Given the description of an element on the screen output the (x, y) to click on. 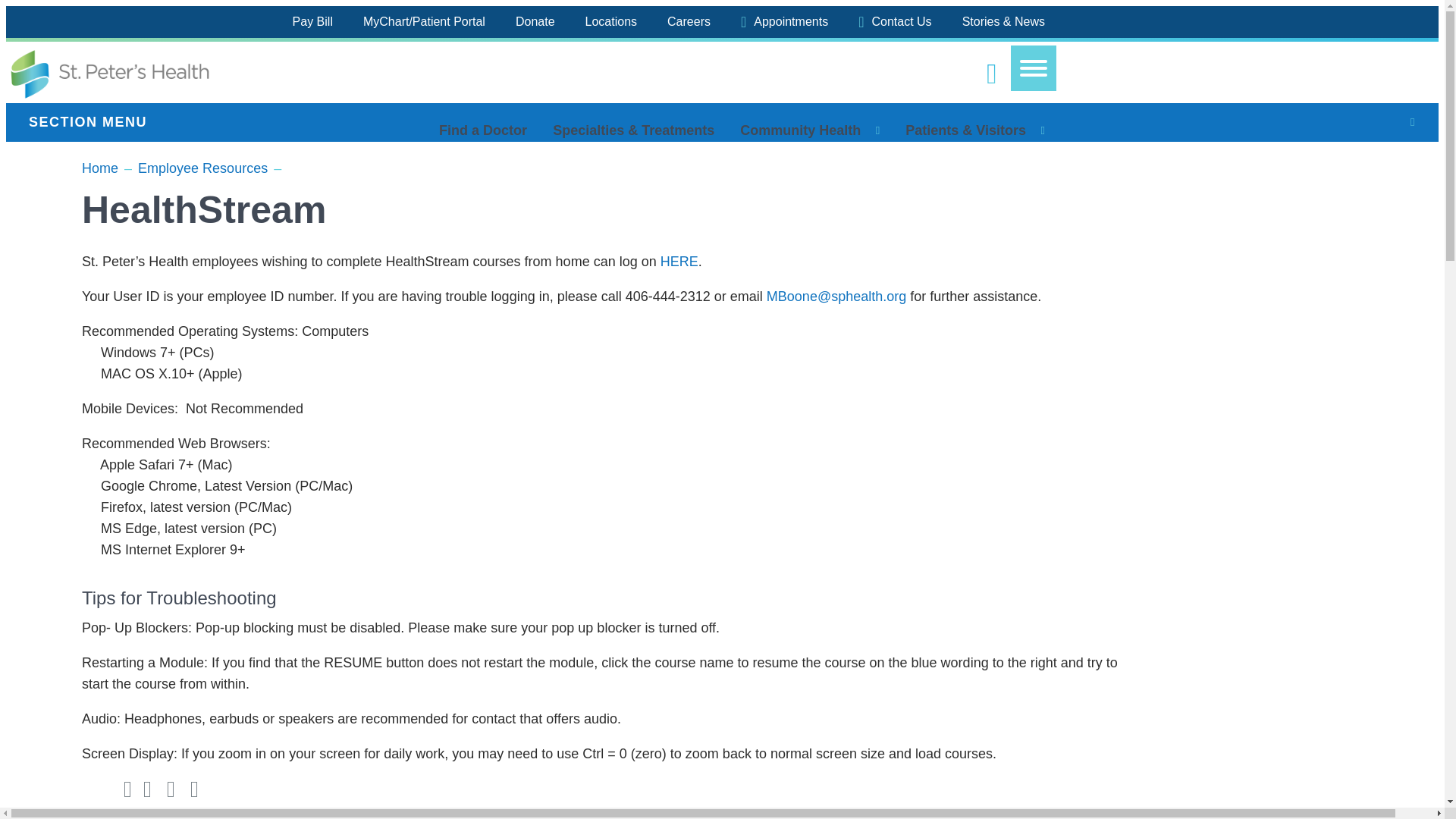
Open Menu (1033, 67)
Search St. Peter's Health... (991, 73)
Donate (534, 21)
Contact Us (895, 21)
Find a Doctor (483, 129)
Careers (688, 21)
Community Health (799, 129)
Pay Bill (312, 21)
Appointments (784, 21)
Locations (611, 21)
